Given the description of an element on the screen output the (x, y) to click on. 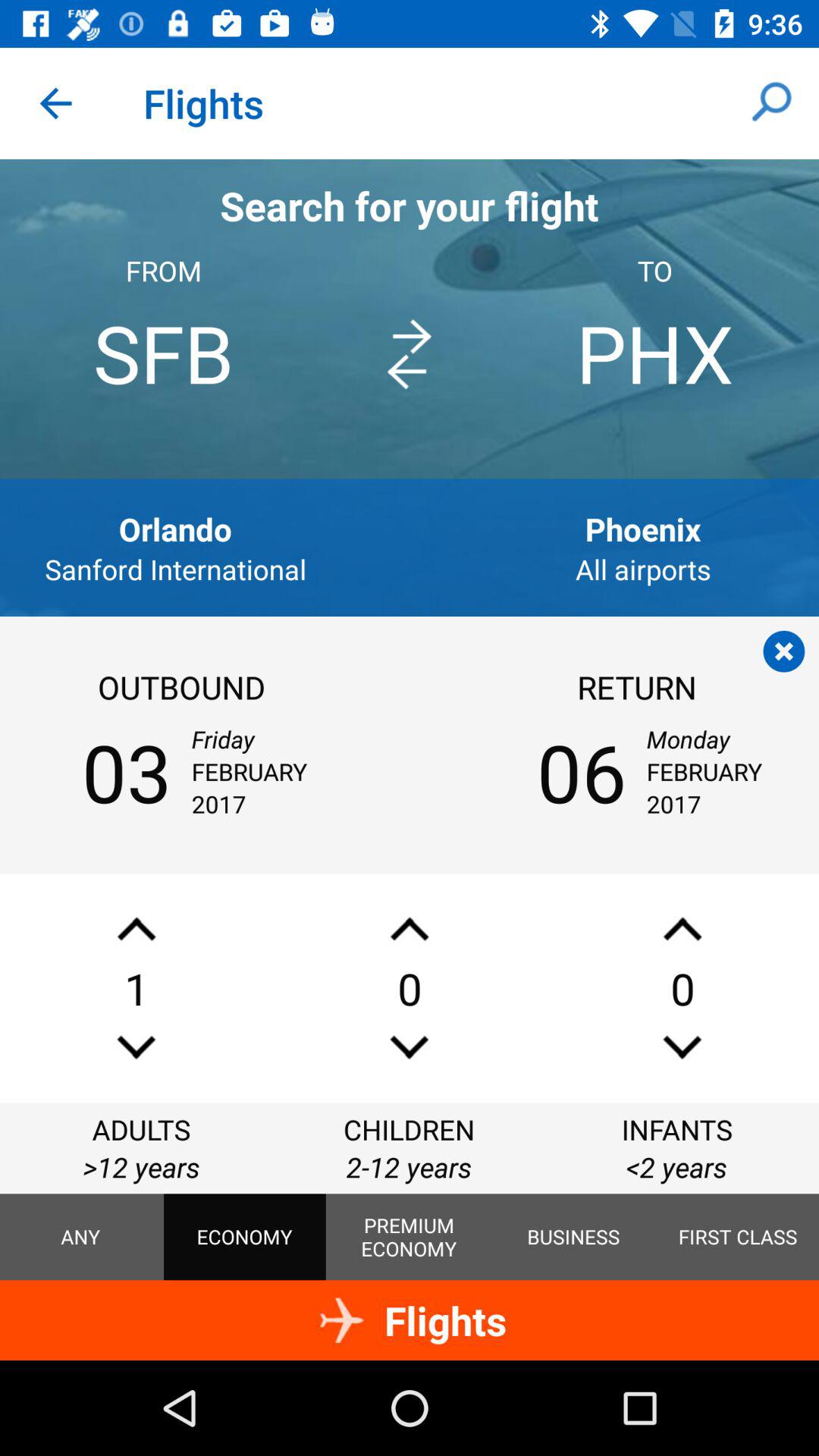
switch to and from destinations (408, 354)
